Given the description of an element on the screen output the (x, y) to click on. 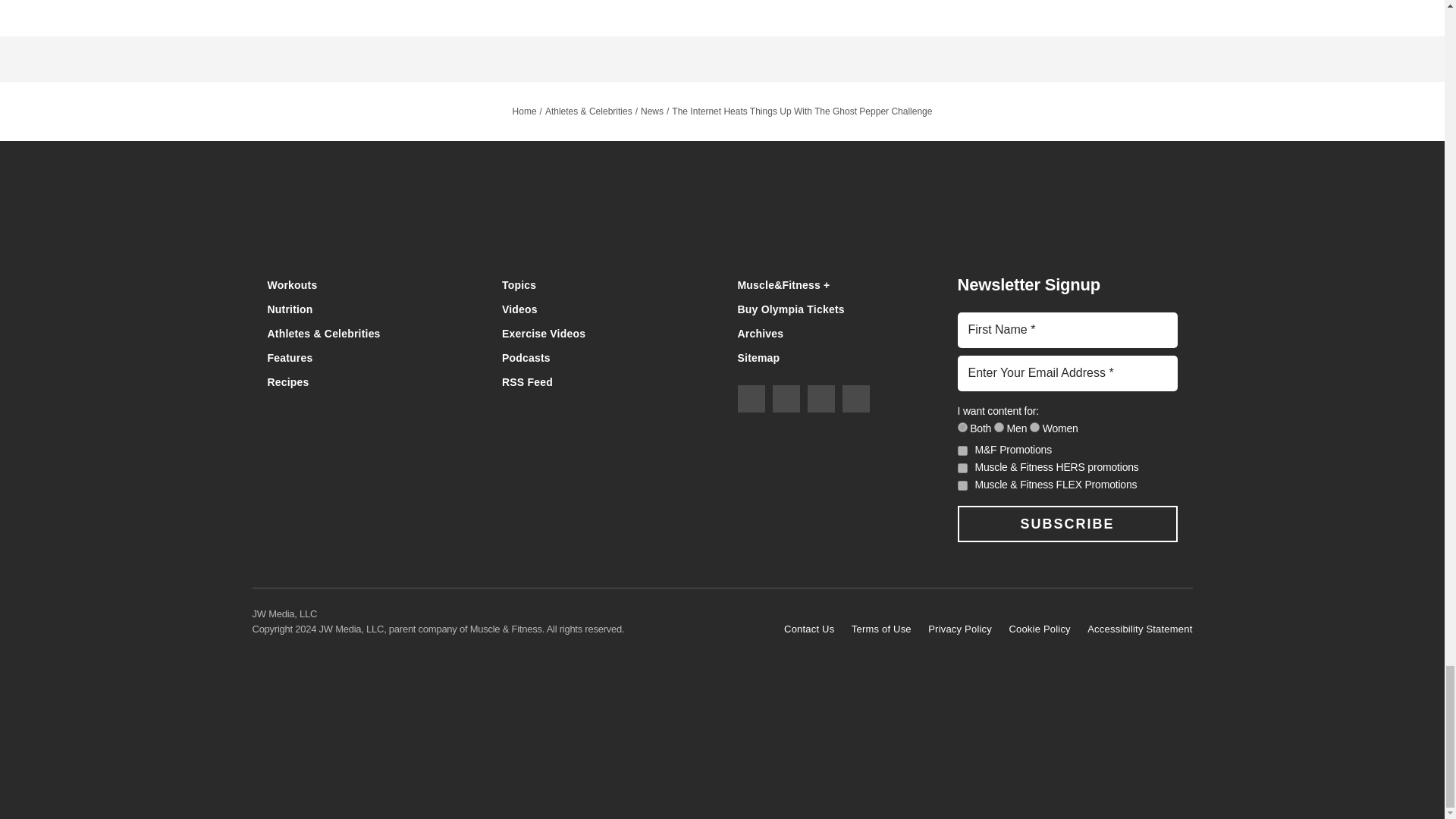
711 (961, 427)
715 (1034, 427)
713 (999, 427)
